Given the description of an element on the screen output the (x, y) to click on. 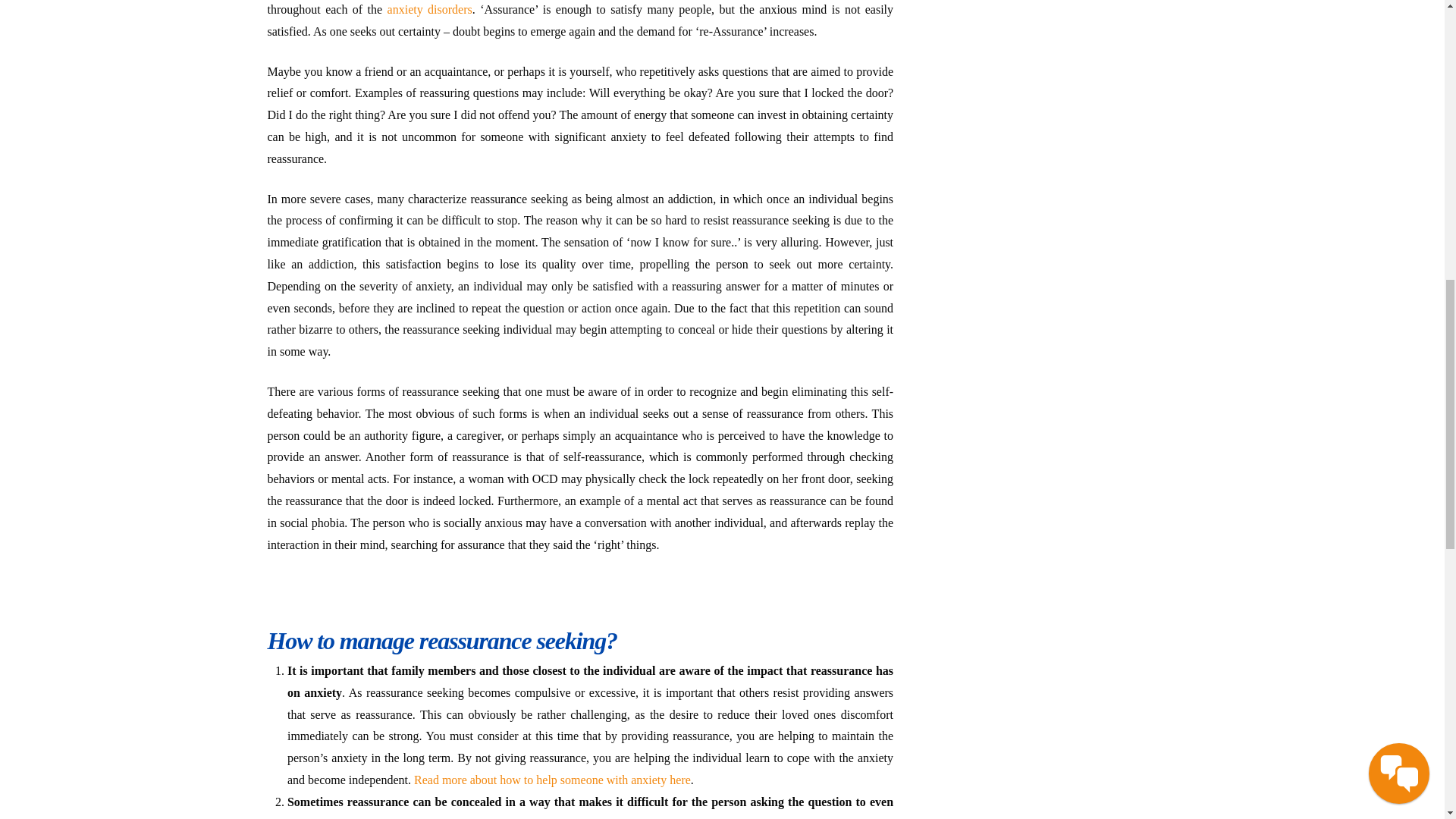
anxiety disorders (429, 9)
Read more about how to help someone with anxiety here (551, 779)
